Given the description of an element on the screen output the (x, y) to click on. 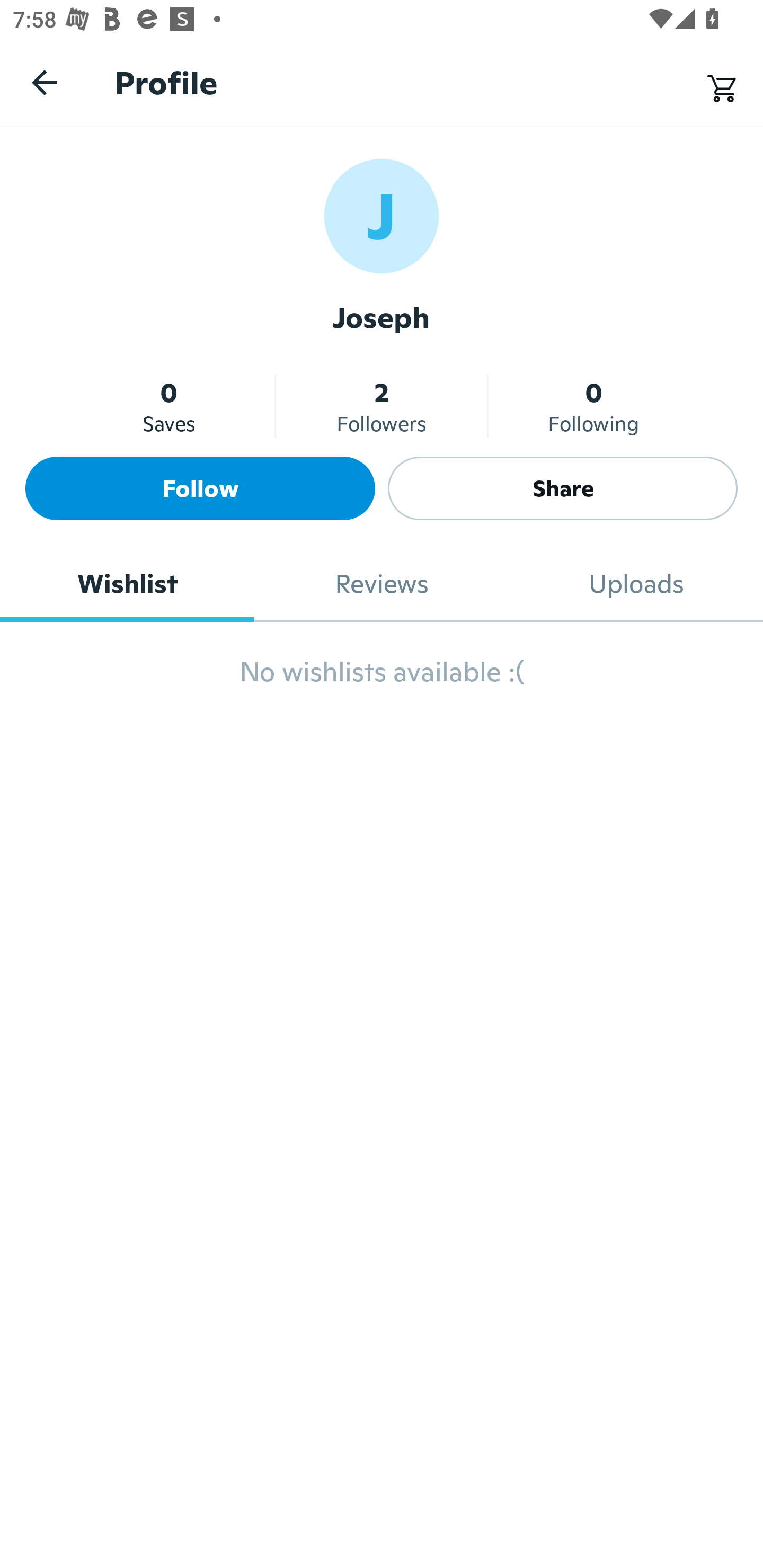
Navigate up (44, 82)
J (381, 215)
2 Followers (381, 405)
0 Following (593, 405)
Follow (200, 488)
Share (562, 488)
Wishlist (127, 583)
Reviews (381, 583)
Uploads (635, 583)
No wishlists available :( (381, 679)
